Given the description of an element on the screen output the (x, y) to click on. 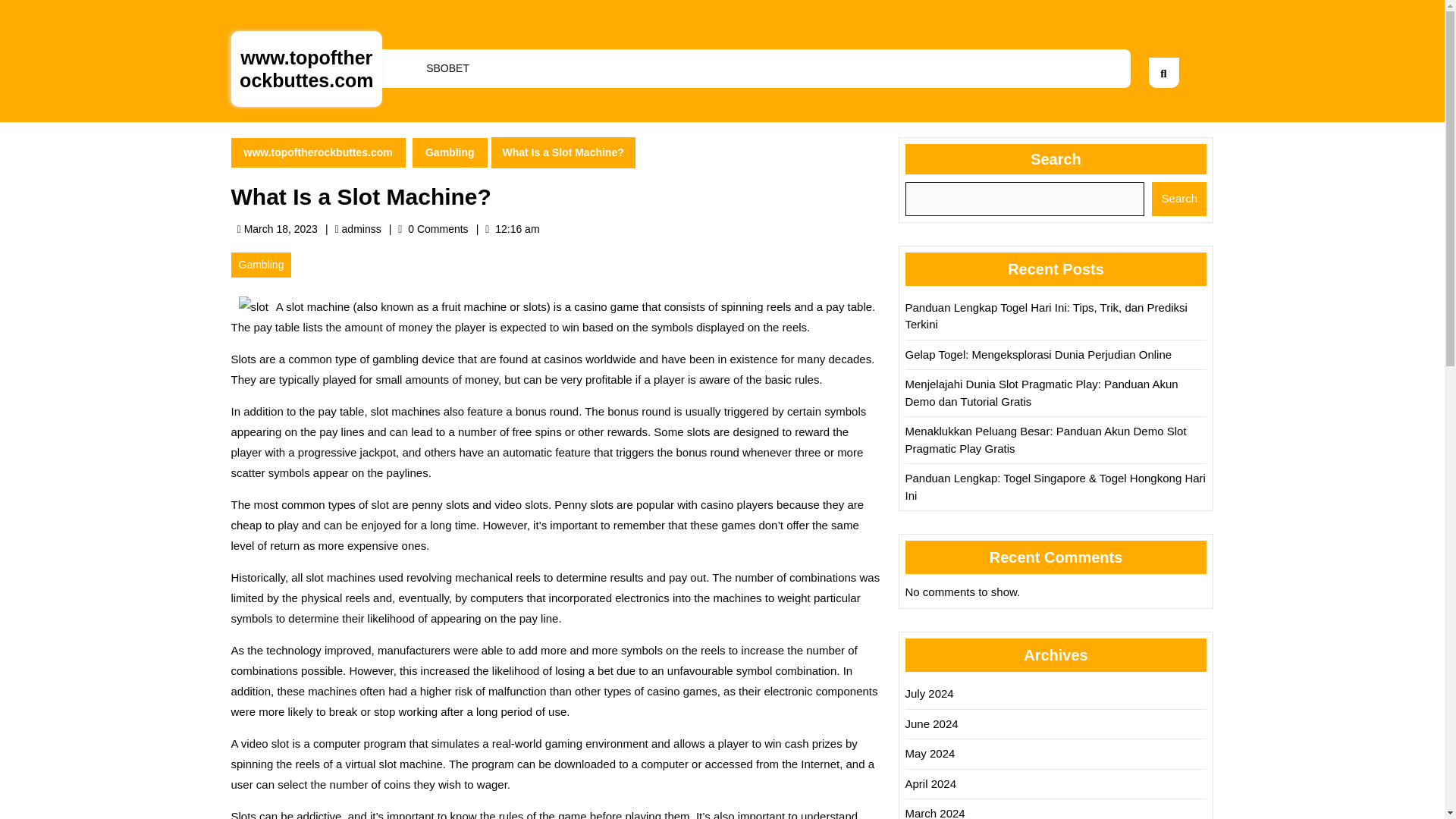
www.topoftherockbuttes.com (306, 68)
Gambling (361, 228)
March 2024 (449, 152)
Gambling (935, 812)
July 2024 (260, 264)
May 2024 (929, 693)
Gelap Togel: Mengeksplorasi Dunia Perjudian Online (930, 753)
Search (1038, 353)
SBOBET (1179, 198)
June 2024 (448, 68)
April 2024 (931, 723)
